Given the description of an element on the screen output the (x, y) to click on. 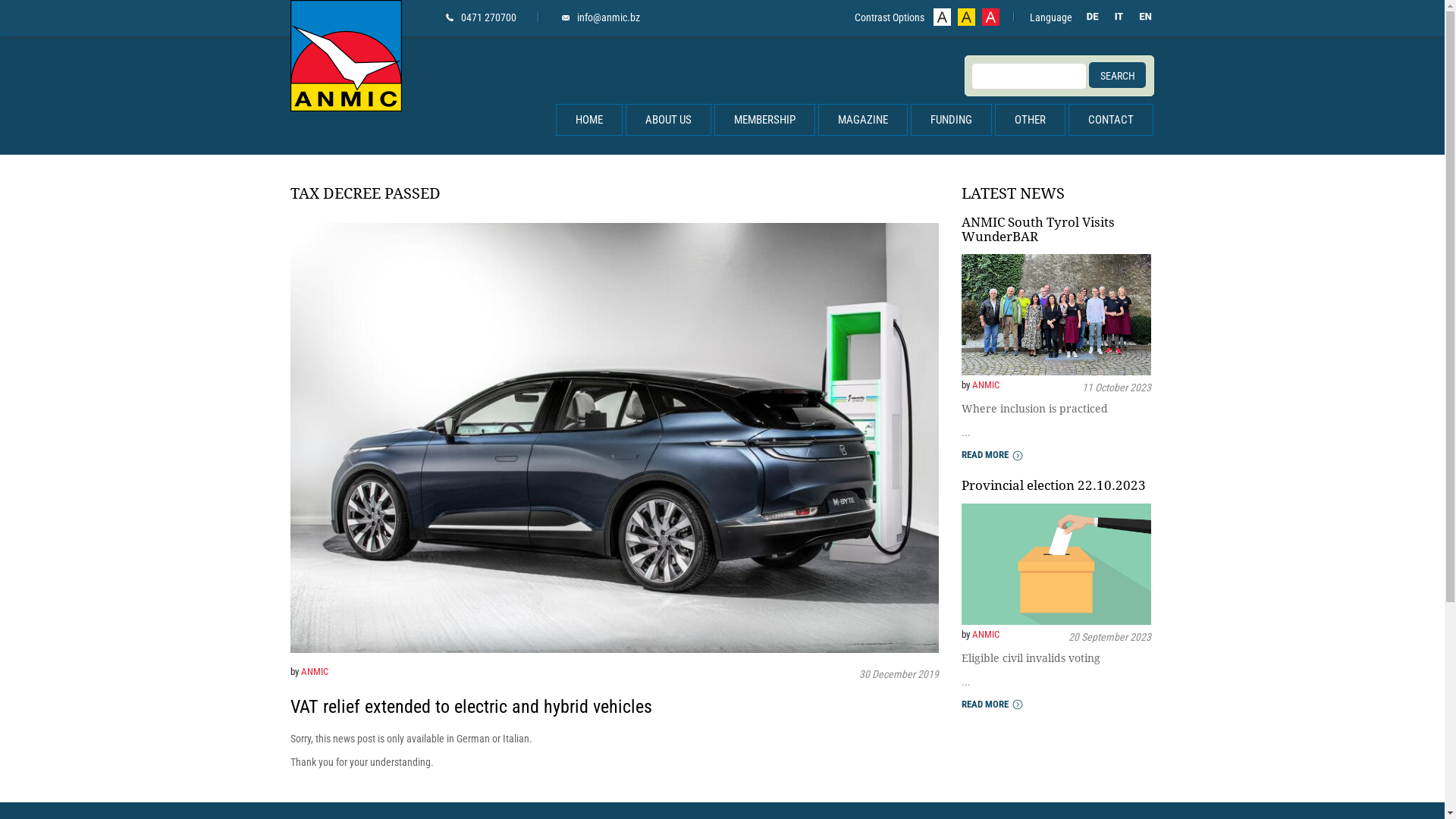
READ MORE Element type: text (991, 704)
TAX DECREE PASSED Element type: text (613, 193)
READ MORE Element type: text (991, 455)
Italiano (it) Element type: hover (1118, 17)
0471 270700 Element type: text (480, 17)
HOME Element type: text (588, 119)
OTHER Element type: text (1029, 119)
English (en) Element type: hover (1145, 17)
Search Element type: text (1116, 74)
MAGAZINE Element type: text (861, 119)
FUNDING Element type: text (950, 119)
info@anmic.bz Element type: text (600, 17)
ABOUT US Element type: text (667, 119)
Deutsch (de) Element type: hover (1092, 17)
CONTACT Element type: text (1109, 119)
MEMBERSHIP Element type: text (764, 119)
